Given the description of an element on the screen output the (x, y) to click on. 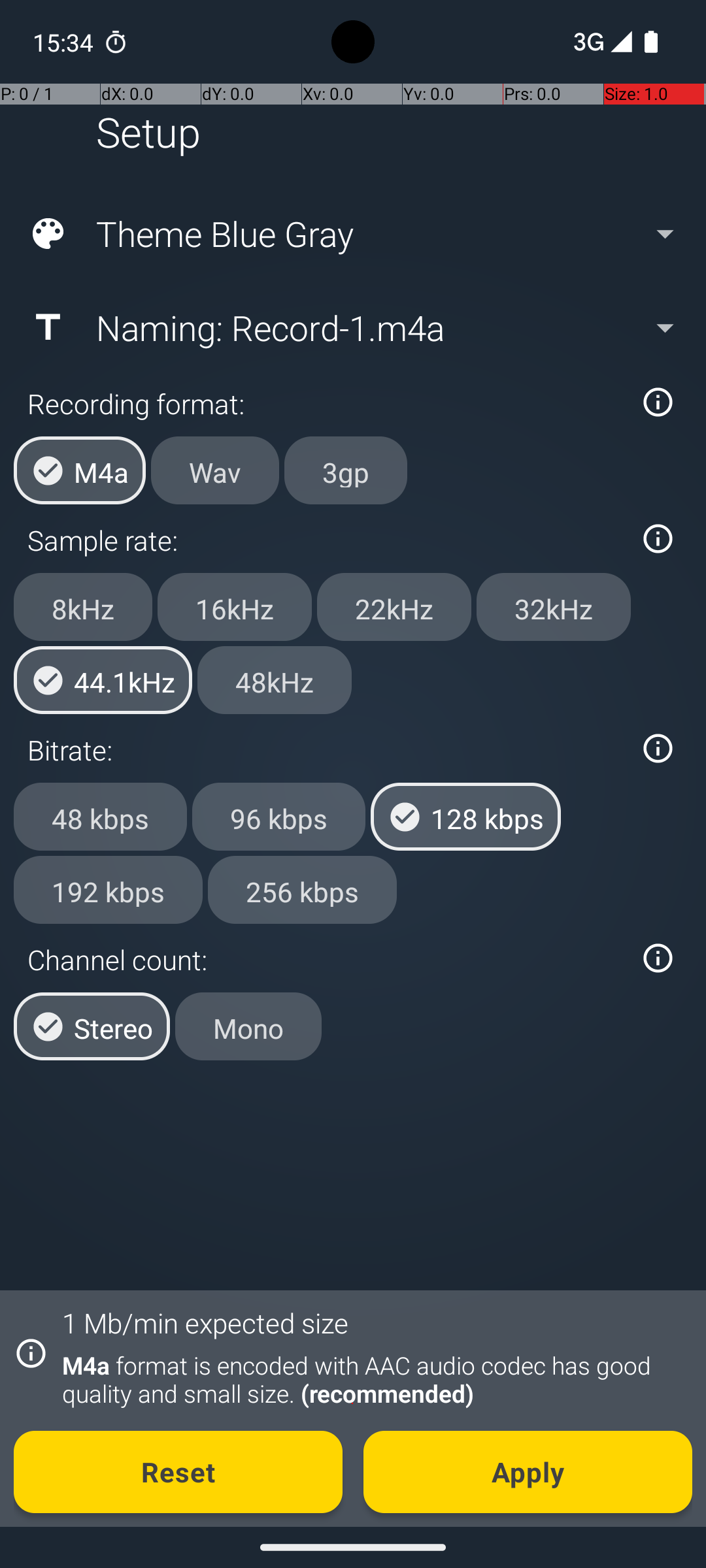
3G Element type: android.widget.ImageView (587, 41)
